Given the description of an element on the screen output the (x, y) to click on. 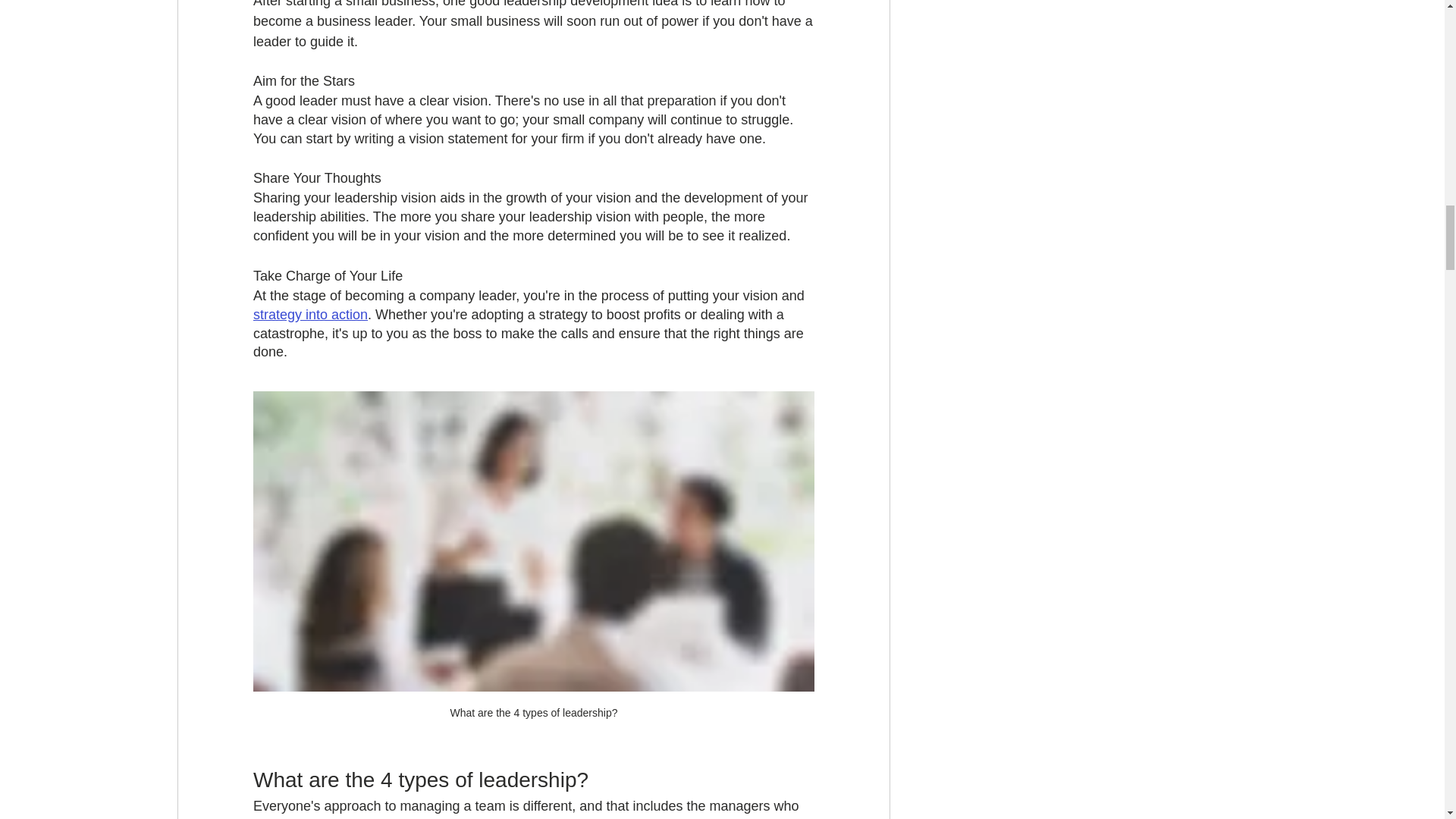
strategy into action (310, 314)
